Given the description of an element on the screen output the (x, y) to click on. 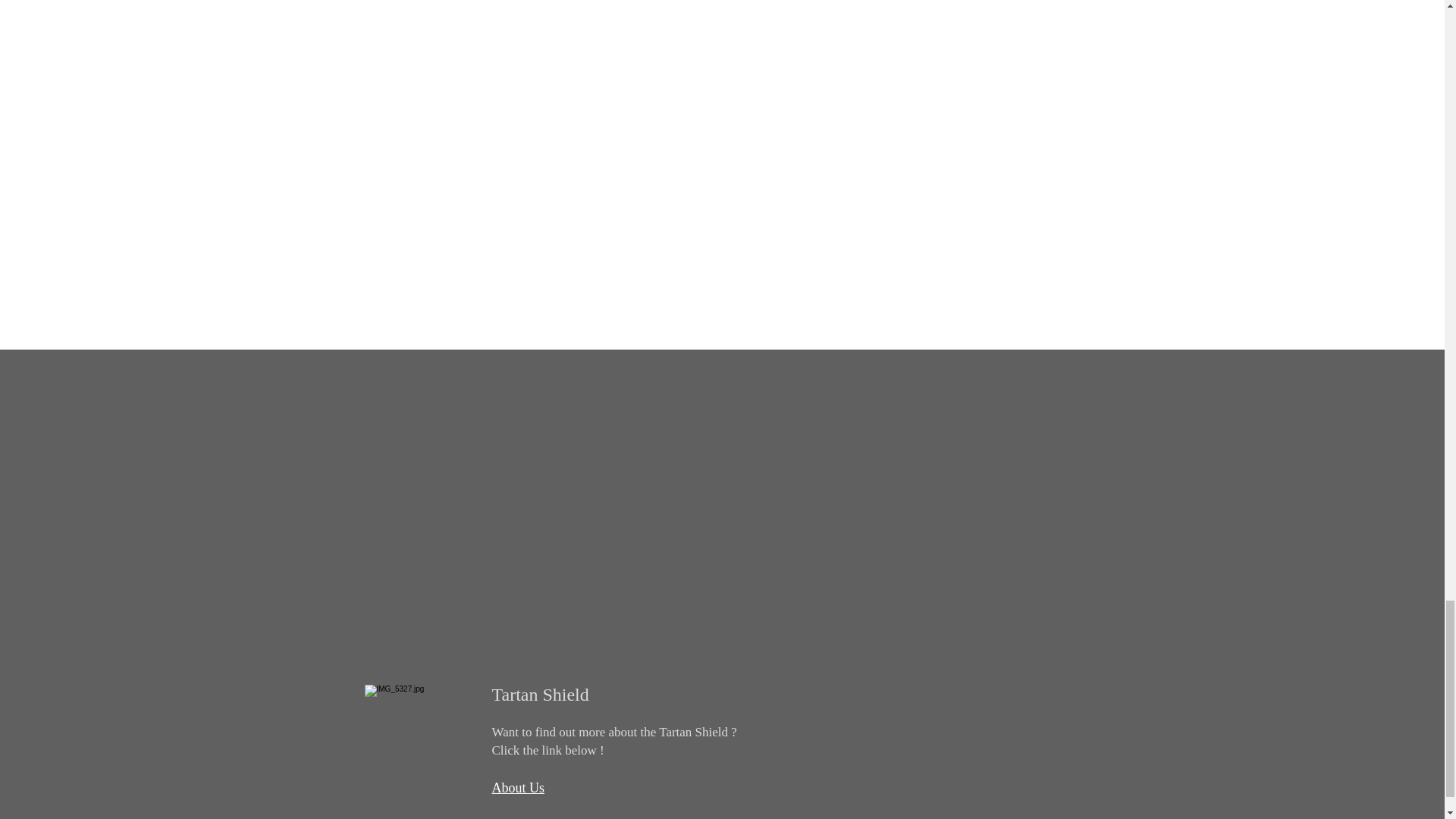
About Us (518, 787)
